Given the description of an element on the screen output the (x, y) to click on. 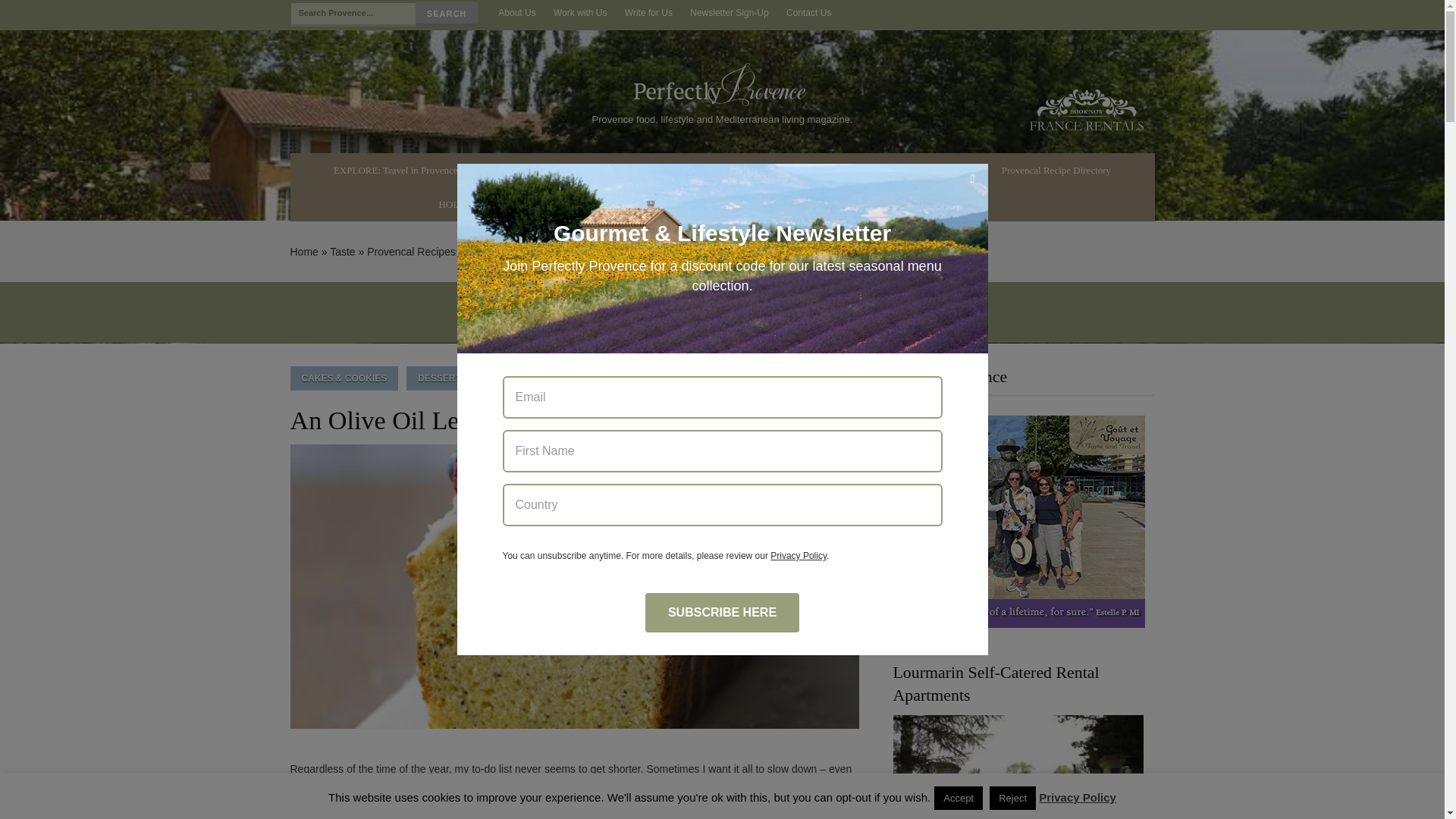
Search (445, 13)
Search (445, 13)
Facebook (1063, 14)
About Us (516, 12)
Search (445, 13)
Instagram (1089, 14)
Pinterest (1116, 14)
View all posts in Dessert (438, 378)
View all posts in Taste (779, 378)
Work with Us (580, 12)
Twitter (1142, 14)
An Olive Oil Lemon Cake Recipe for a Sweet Treat (574, 591)
Write for Us (648, 12)
View all posts in Provencal Recipes (684, 378)
Contact Us (808, 12)
